Given the description of an element on the screen output the (x, y) to click on. 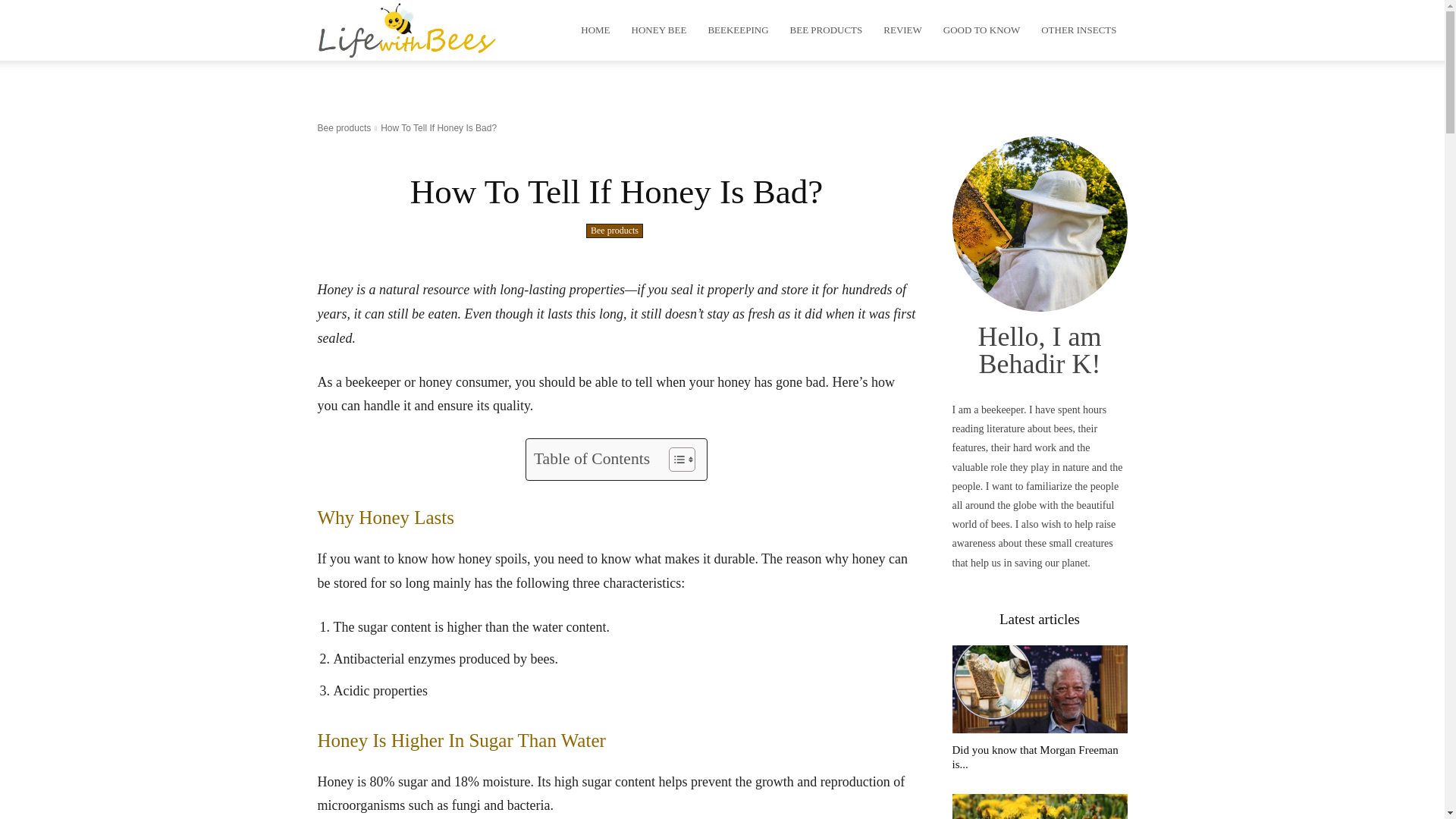
View all posts in Bee products (344, 127)
OTHER INSECTS (1078, 30)
GOOD TO KNOW (981, 30)
Bee products (344, 127)
Bee products (614, 230)
BEE PRODUCTS (825, 30)
REVIEW (902, 30)
BEEKEEPING (737, 30)
HONEY BEE (659, 30)
Life with Bees (406, 30)
